Given the description of an element on the screen output the (x, y) to click on. 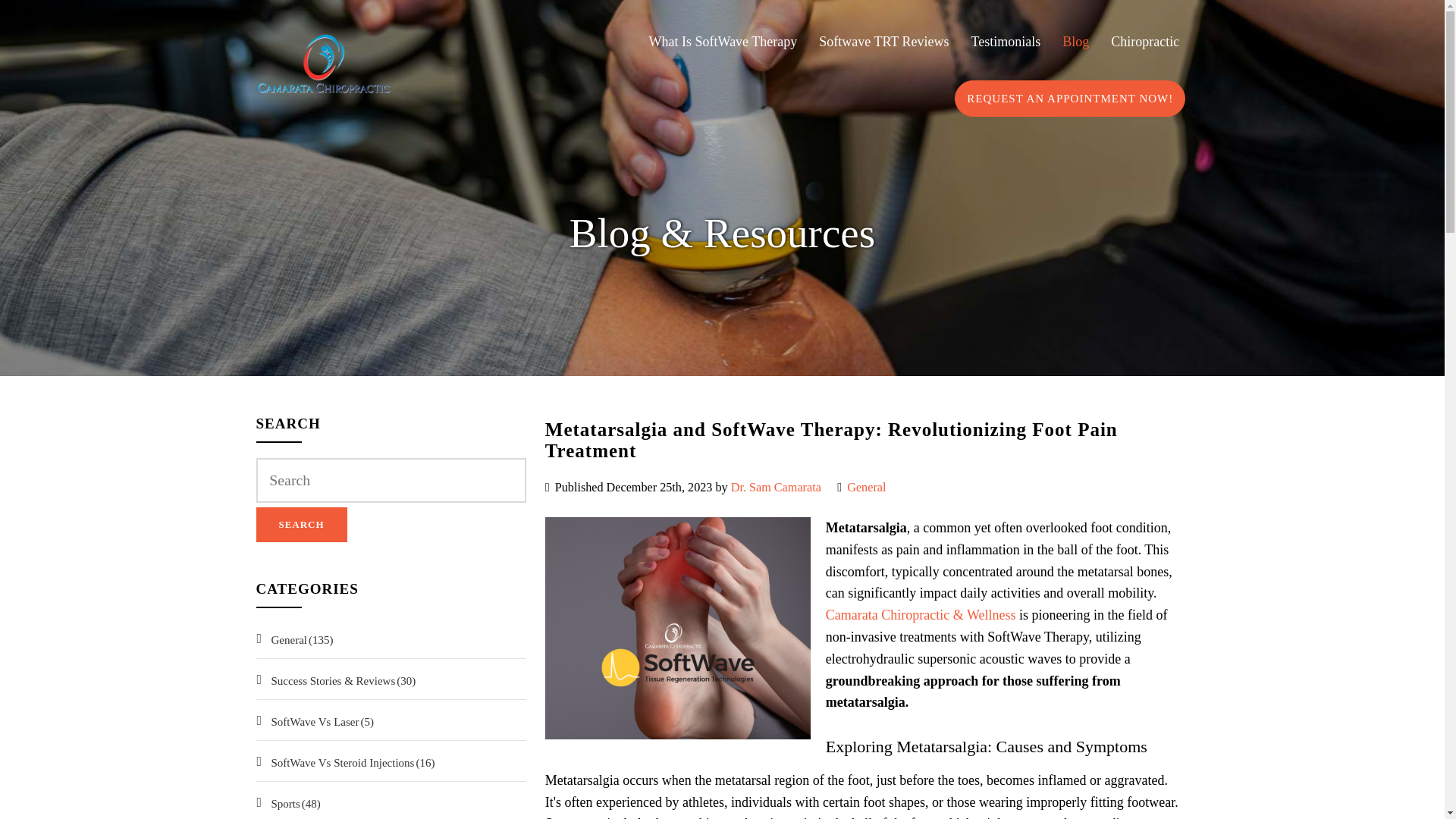
Search (301, 524)
Search (301, 524)
Chiropractic (1145, 41)
General (866, 487)
Testimonials (1004, 41)
Dr. Sam Camarata (775, 487)
Blog (1074, 41)
REQUEST AN APPOINTMENT NOW! (1070, 98)
What Is SoftWave Therapy (723, 41)
Softwave TRT Reviews (883, 41)
